Given the description of an element on the screen output the (x, y) to click on. 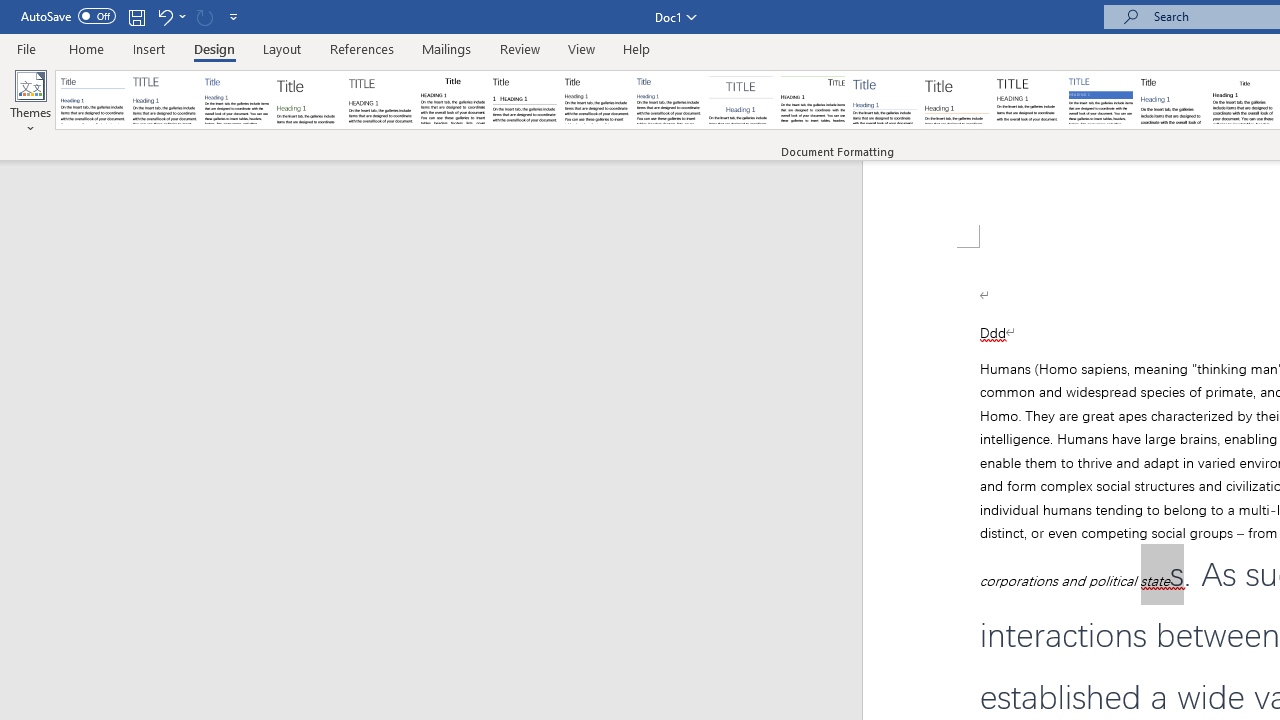
Black & White (Word 2013) (596, 100)
Undo Apply Quick Style Set (170, 15)
Basic (Elegant) (164, 100)
